Given the description of an element on the screen output the (x, y) to click on. 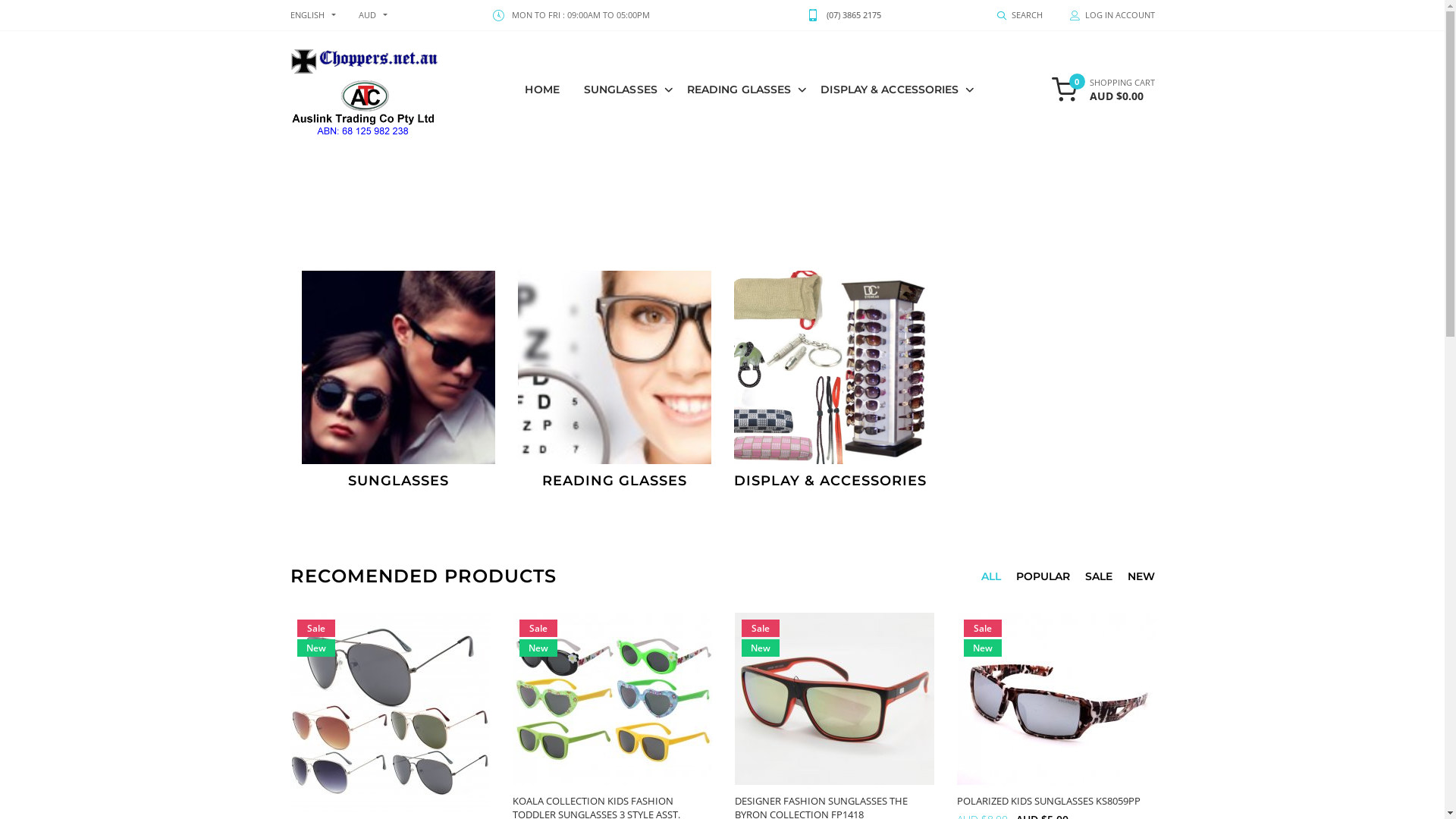
READING GLASSES Element type: text (743, 89)
Polarized Kids Sunglasses KS8059PP Element type: hover (1056, 698)
AUD Element type: text (366, 15)
DISPLAY & ACCESSORIES Element type: text (893, 89)
HOME Element type: text (541, 89)
0
SHOPPING CART
AUD $0.00 Element type: text (1102, 89)
SUNGLASSES Element type: text (398, 379)
DISPLAY & ACCESSORIES Element type: text (830, 379)
READING GLASSES Element type: text (613, 379)
SEARCH Element type: text (1019, 15)
Aviator Metal Sunglasses AV007-1 Element type: hover (389, 712)
ENGLISH Element type: text (306, 15)
SUNGLASSES Element type: text (624, 89)
Designer Fashion Sunglasses The Byron Collection FP1418 Element type: hover (833, 698)
POLARIZED KIDS SUNGLASSES KS8059PP Element type: text (1048, 800)
LOG IN ACCOUNT Element type: text (1104, 15)
Sunglasses Element type: hover (388, 357)
Reading Glasses Element type: hover (604, 357)
Display & Accessories Element type: hover (820, 357)
